Given the description of an element on the screen output the (x, y) to click on. 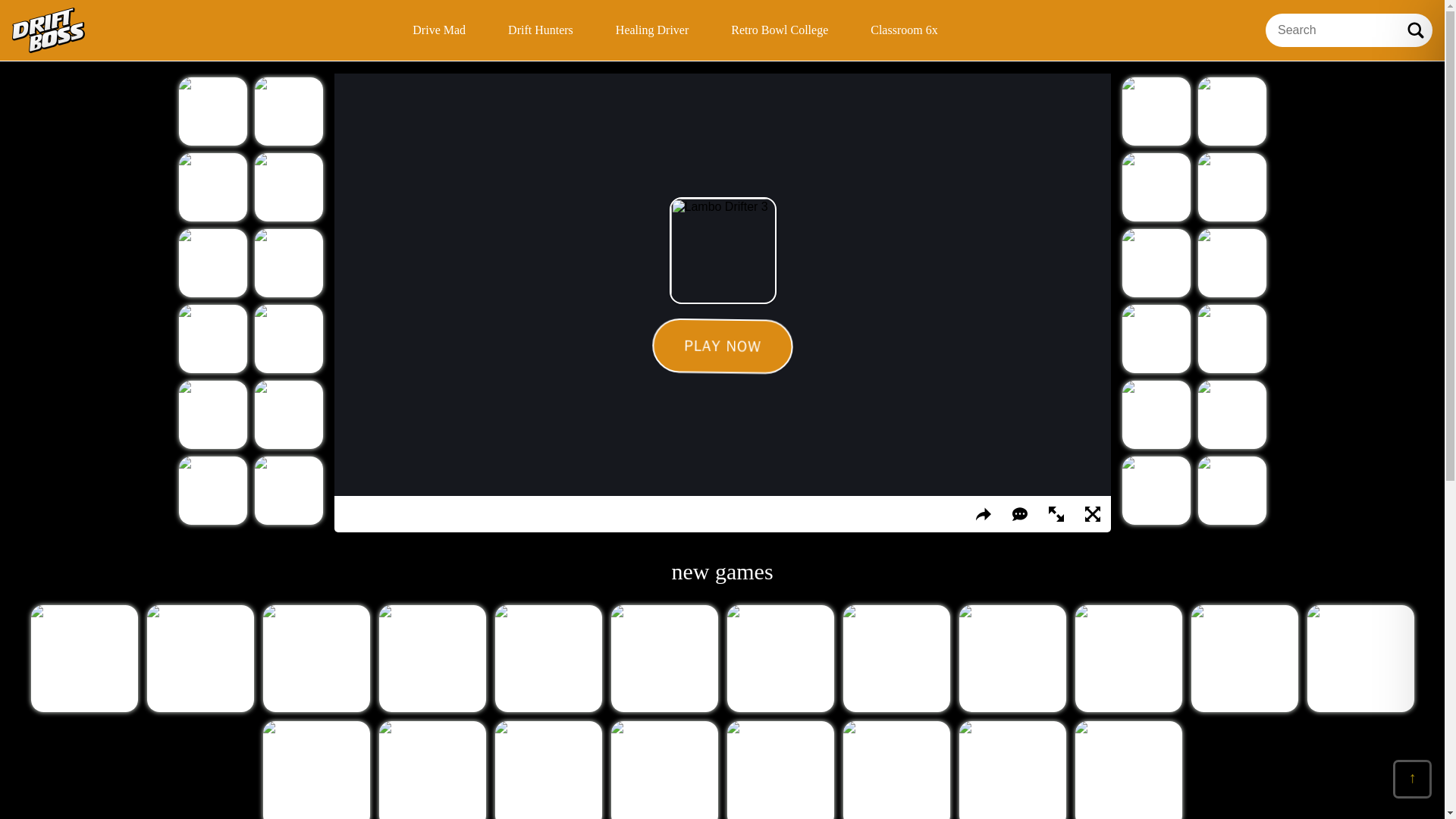
Drive Mad (438, 30)
Subway Surfers (288, 490)
Drive Mad 2 (213, 490)
Moto X3M (213, 414)
Retro Drift (213, 110)
Drift Boss (47, 30)
Sling Drift (1156, 110)
Drive Mad (288, 110)
Drift Hunters (288, 263)
